Given the description of an element on the screen output the (x, y) to click on. 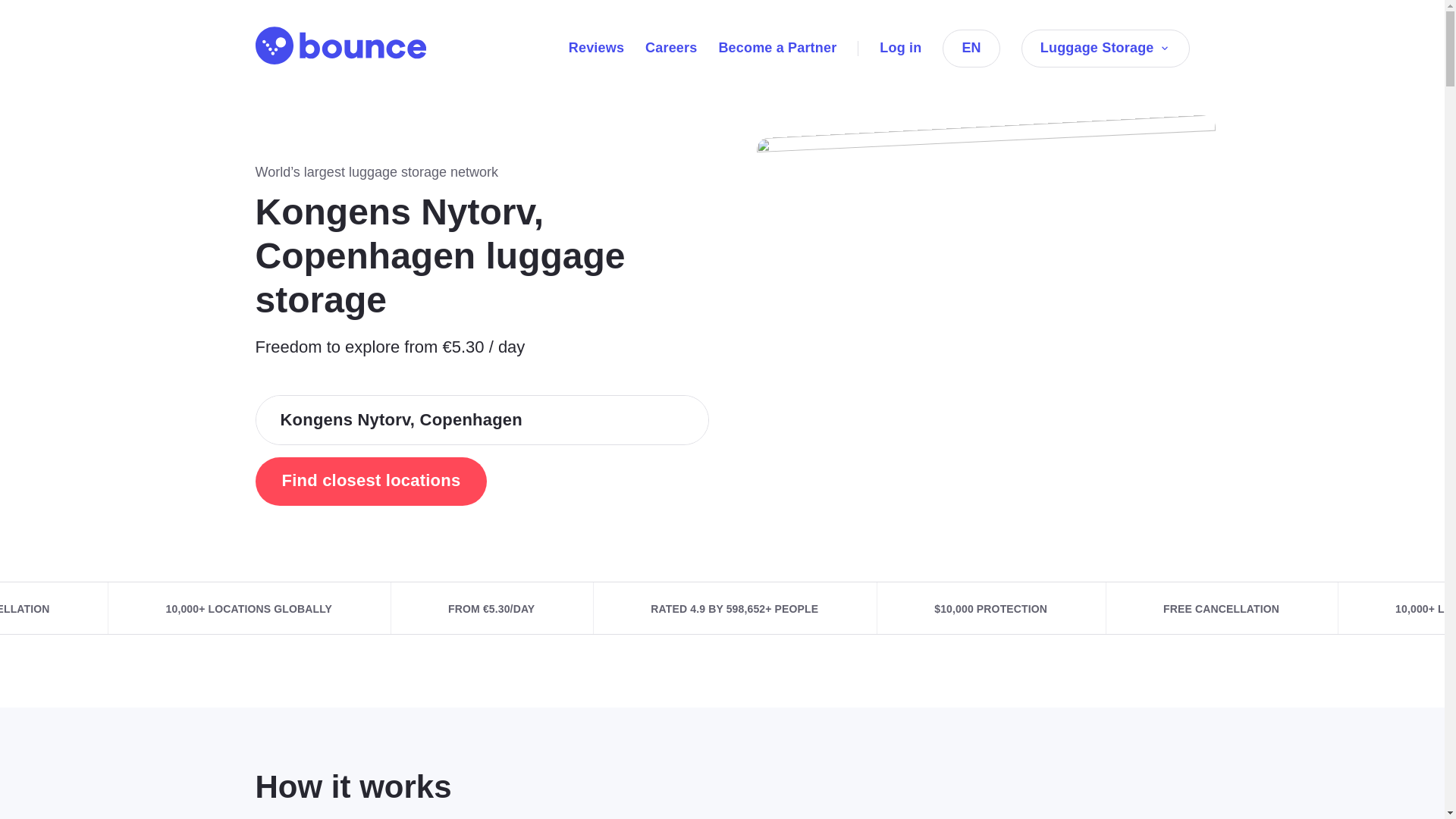
Become a Partner (776, 47)
Luggage storage near... (370, 481)
Kongens Nytorv, Copenhagen (481, 419)
Bounce (339, 45)
Luggage Storage (1105, 48)
Log in (900, 47)
Careers (671, 47)
EN (970, 48)
Reviews (596, 47)
Find closest locations (370, 481)
